Given the description of an element on the screen output the (x, y) to click on. 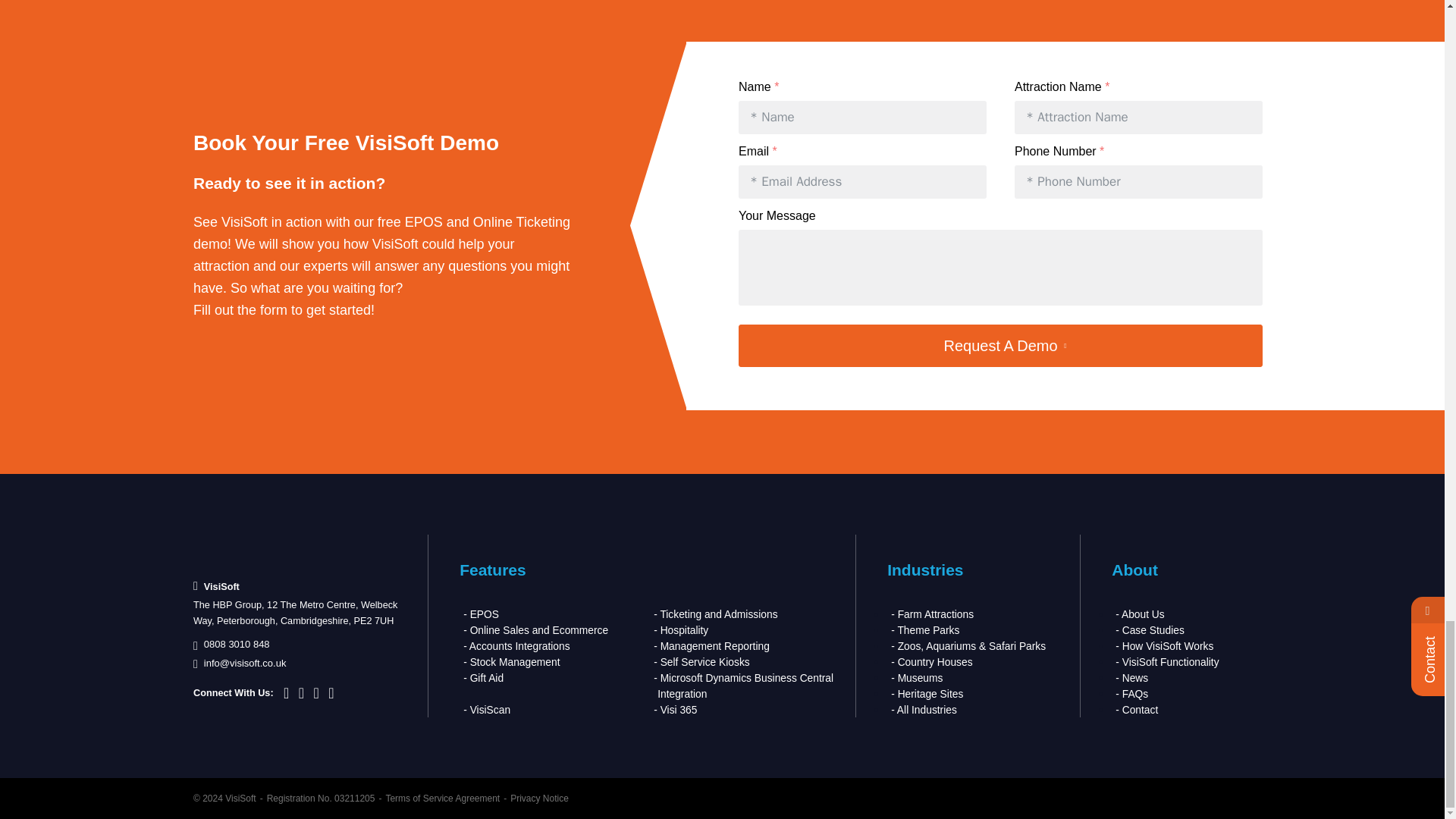
Website by Laser Red (1216, 799)
